Given the description of an element on the screen output the (x, y) to click on. 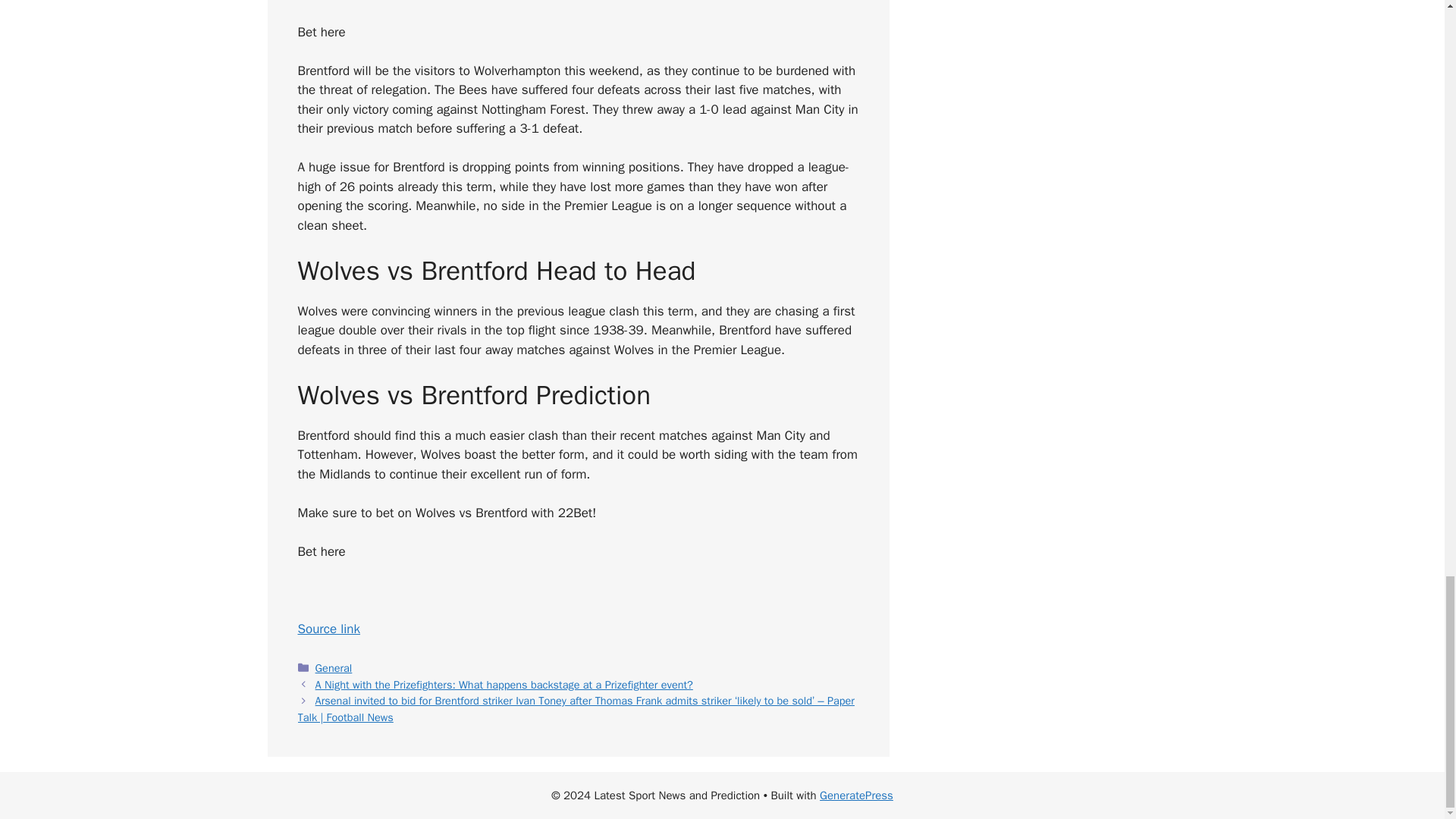
Source link (328, 628)
General (333, 667)
